Given the description of an element on the screen output the (x, y) to click on. 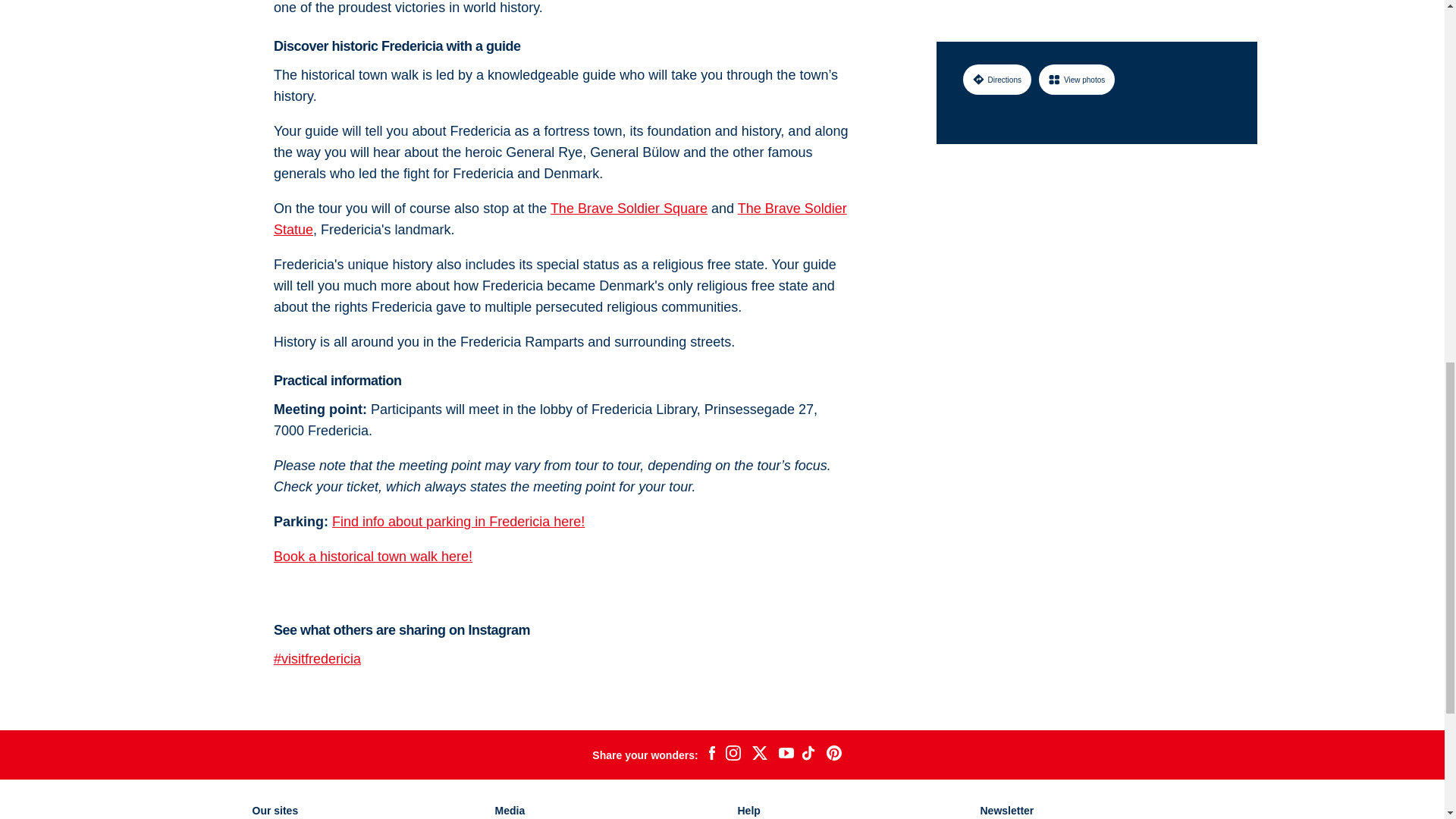
pinterest (834, 754)
tiktok (810, 754)
The Brave Soldier Square (628, 208)
facebook (711, 755)
instagram (732, 754)
youtube (786, 754)
Find info about parking in Fredericia here! (458, 521)
Book a historical town walk here! (372, 556)
The Brave Soldier Statue (560, 218)
twitter (759, 754)
